Given the description of an element on the screen output the (x, y) to click on. 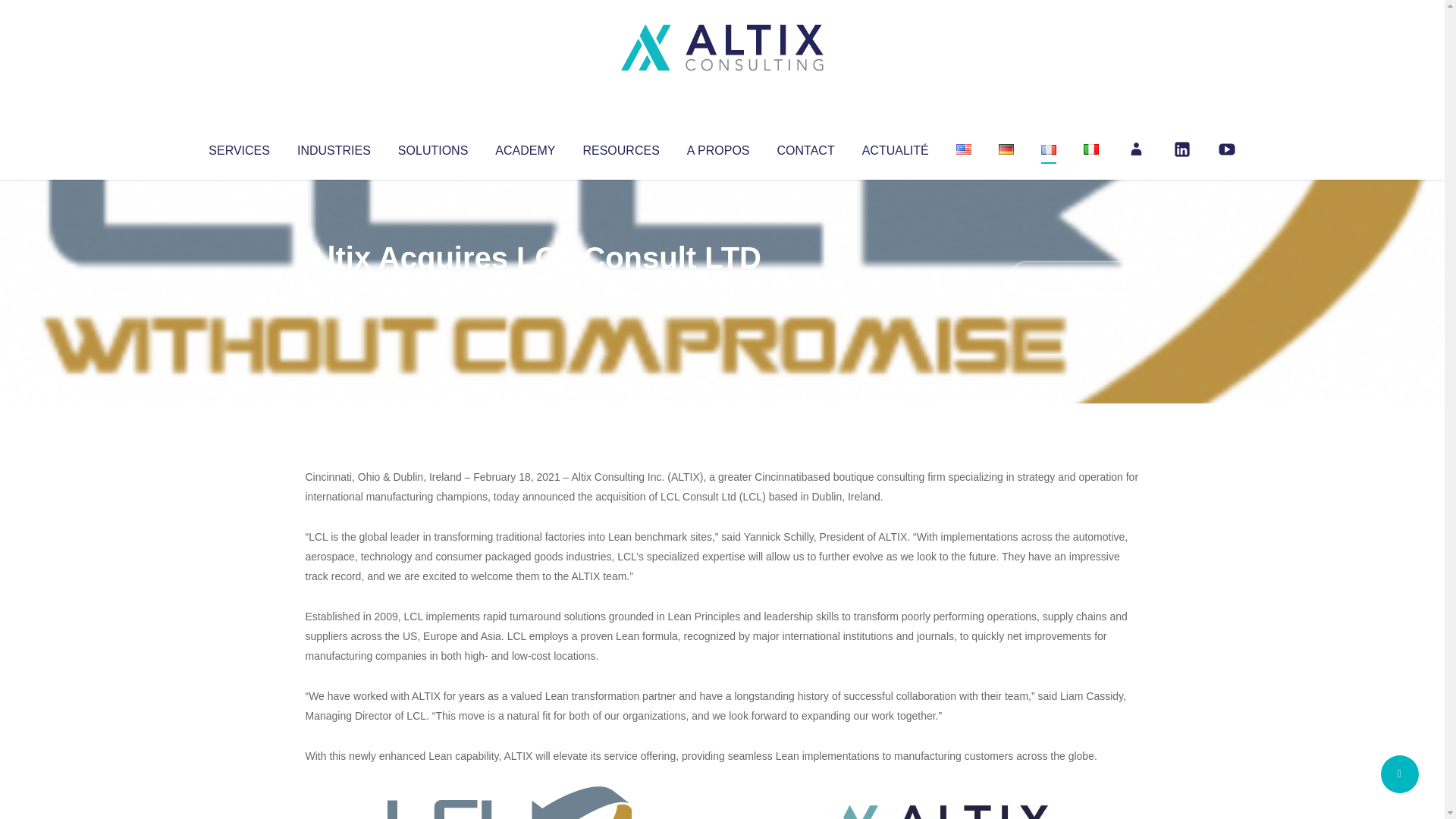
INDUSTRIES (334, 146)
Articles par Altix (333, 287)
ACADEMY (524, 146)
SOLUTIONS (432, 146)
No Comments (1073, 278)
RESOURCES (620, 146)
A PROPOS (718, 146)
Uncategorized (530, 287)
SERVICES (238, 146)
Altix (333, 287)
